Given the description of an element on the screen output the (x, y) to click on. 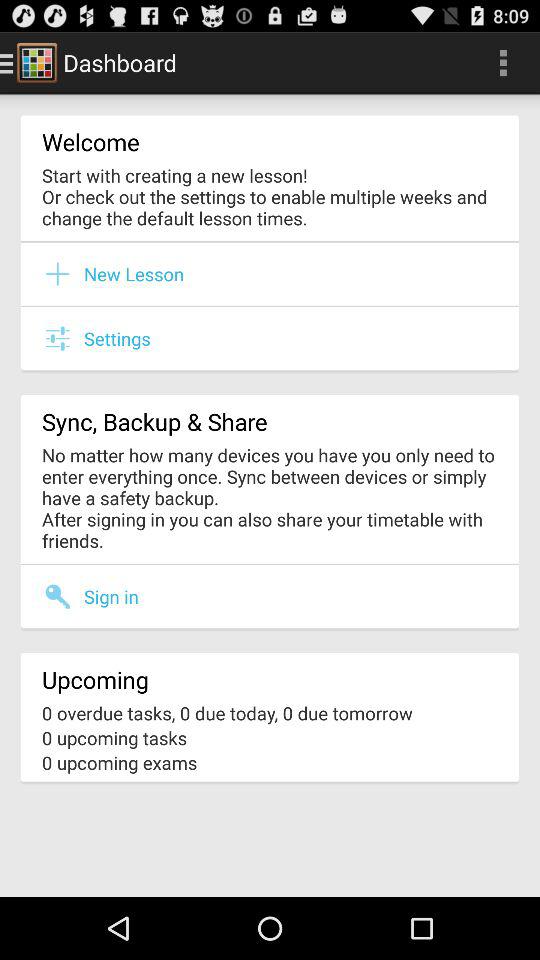
select the sign in (111, 596)
